Given the description of an element on the screen output the (x, y) to click on. 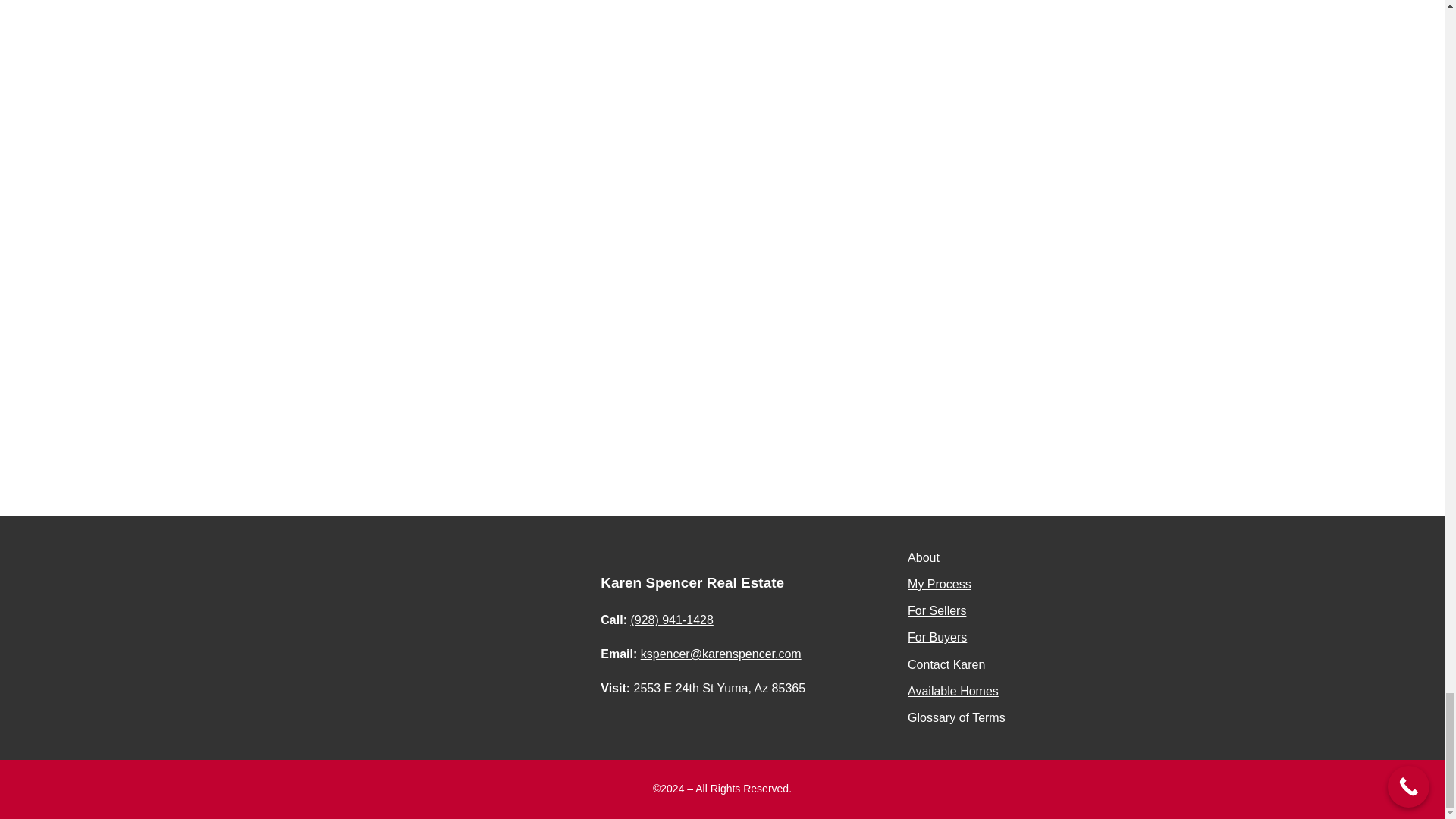
Glossary of Terms (956, 717)
For Sellers (936, 610)
Contact Karen (946, 664)
About (923, 557)
For Buyers (936, 636)
Available Homes (952, 690)
My Process (939, 584)
